Given the description of an element on the screen output the (x, y) to click on. 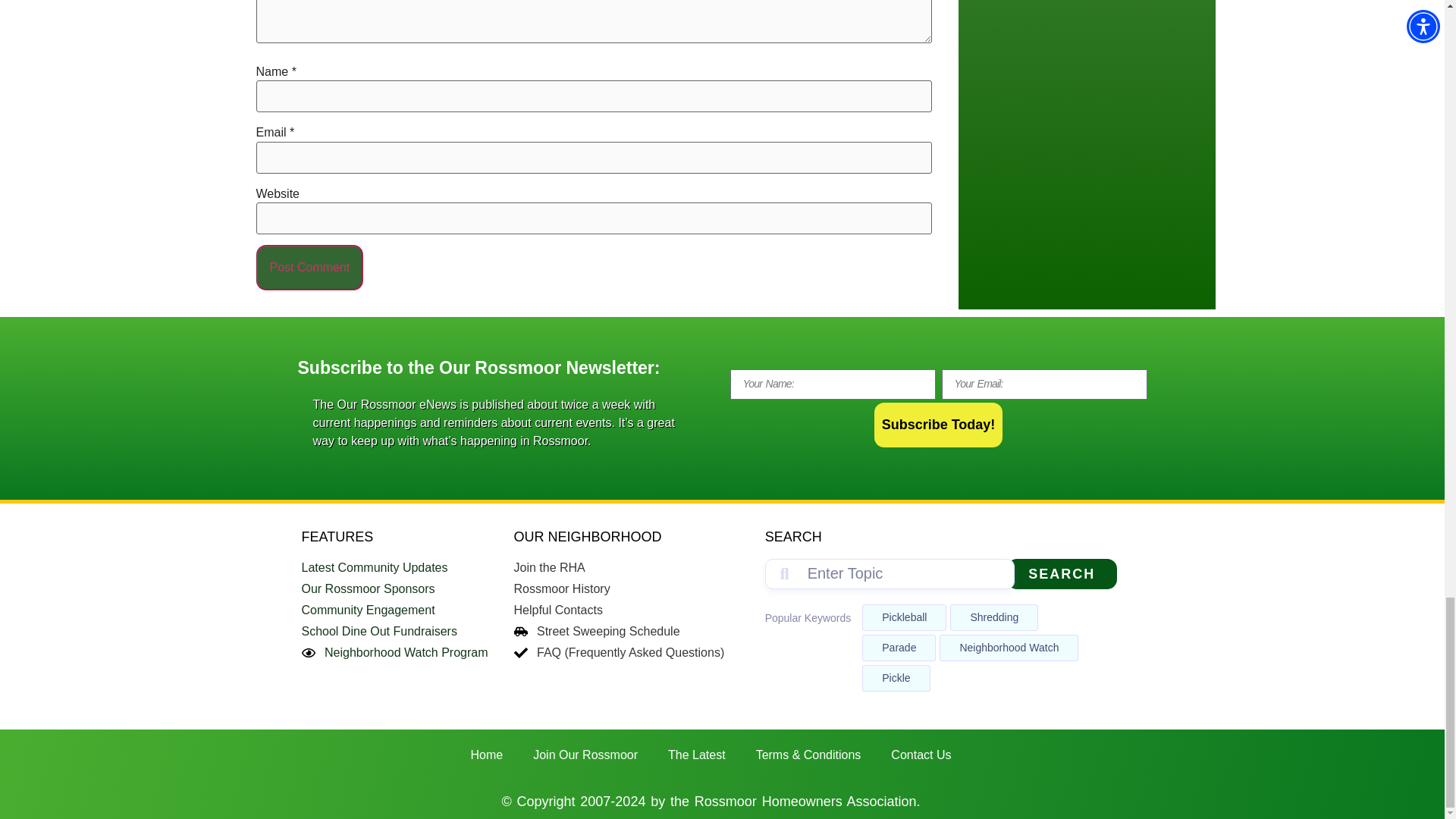
Post Comment (310, 267)
